Given the description of an element on the screen output the (x, y) to click on. 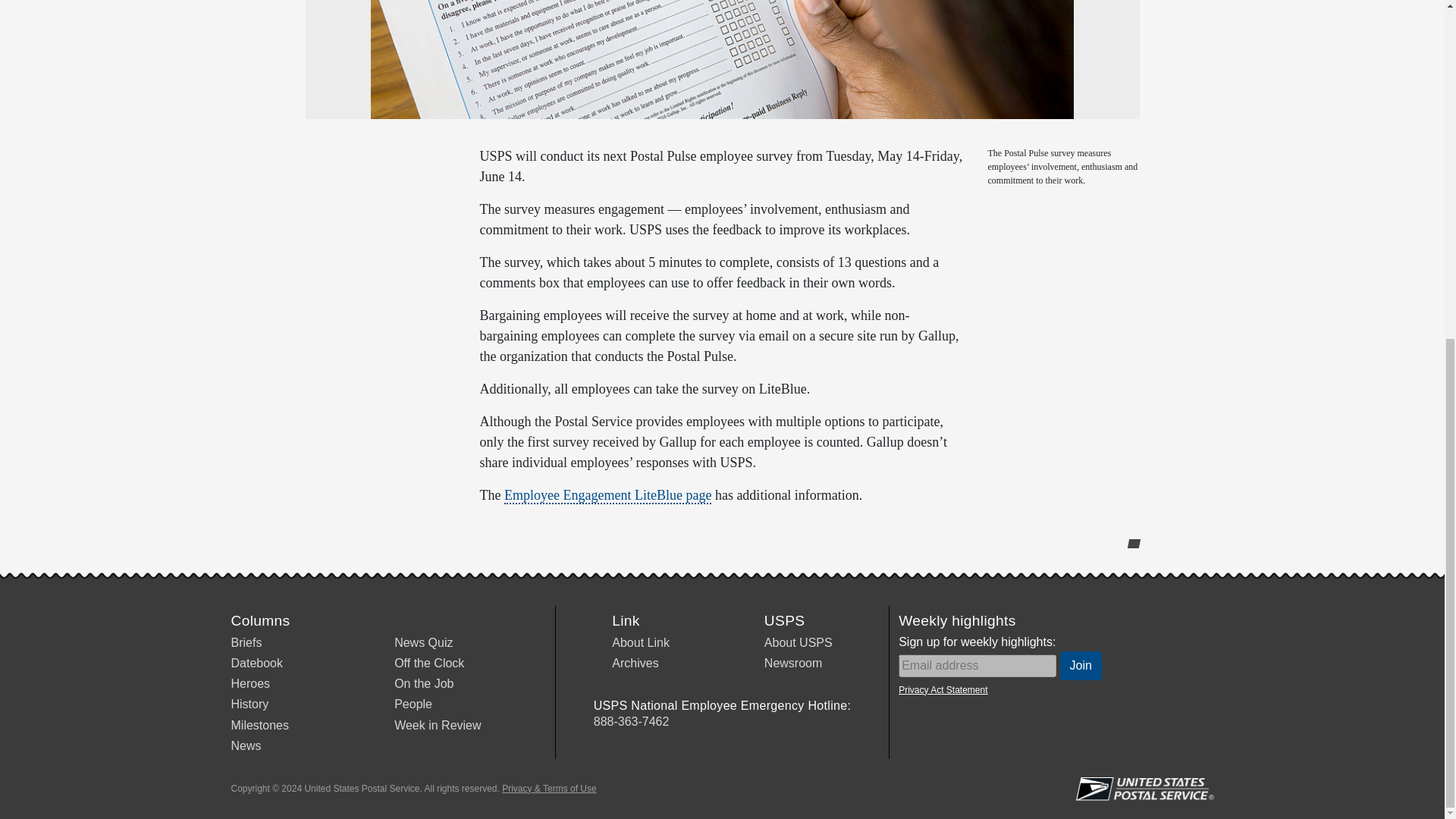
People (413, 703)
Milestones (259, 725)
Archives (634, 662)
About USPS (798, 642)
Join (1080, 665)
Week in Review (437, 725)
About Link (640, 642)
Datebook (256, 662)
Newsroom (793, 662)
History (248, 703)
